Given the description of an element on the screen output the (x, y) to click on. 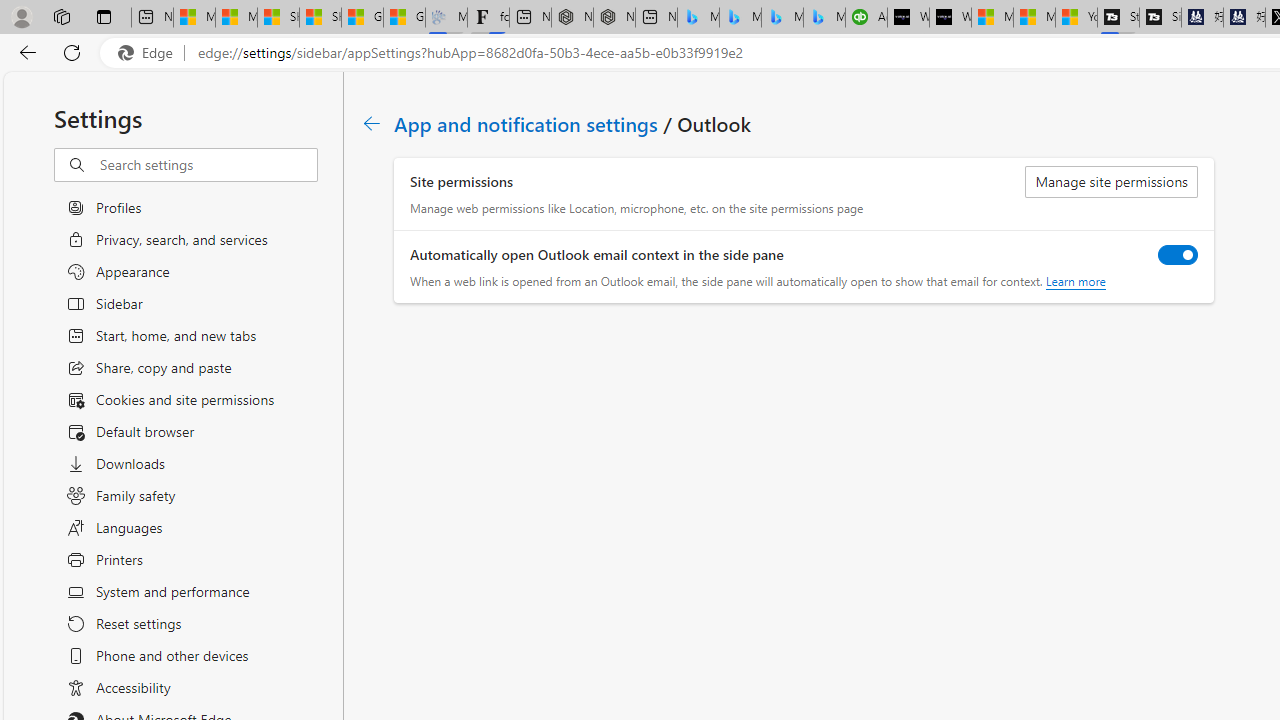
Microsoft Bing Travel - Shangri-La Hotel Bangkok (823, 17)
Edge (150, 53)
